Given the description of an element on the screen output the (x, y) to click on. 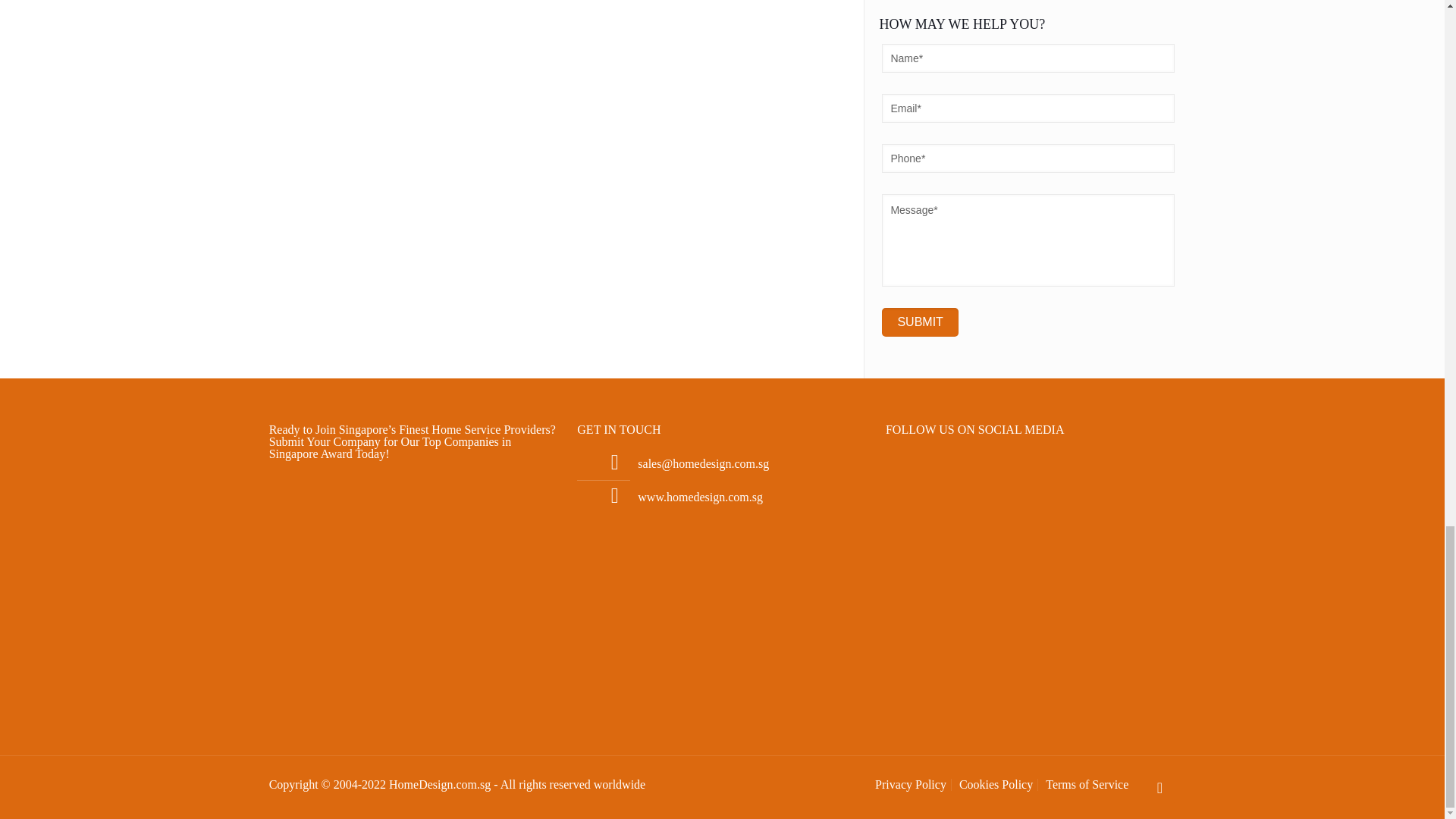
SUBMIT (920, 321)
www.homedesign.com.sg (699, 496)
Privacy Policy (910, 784)
SUBMIT (920, 321)
